Given the description of an element on the screen output the (x, y) to click on. 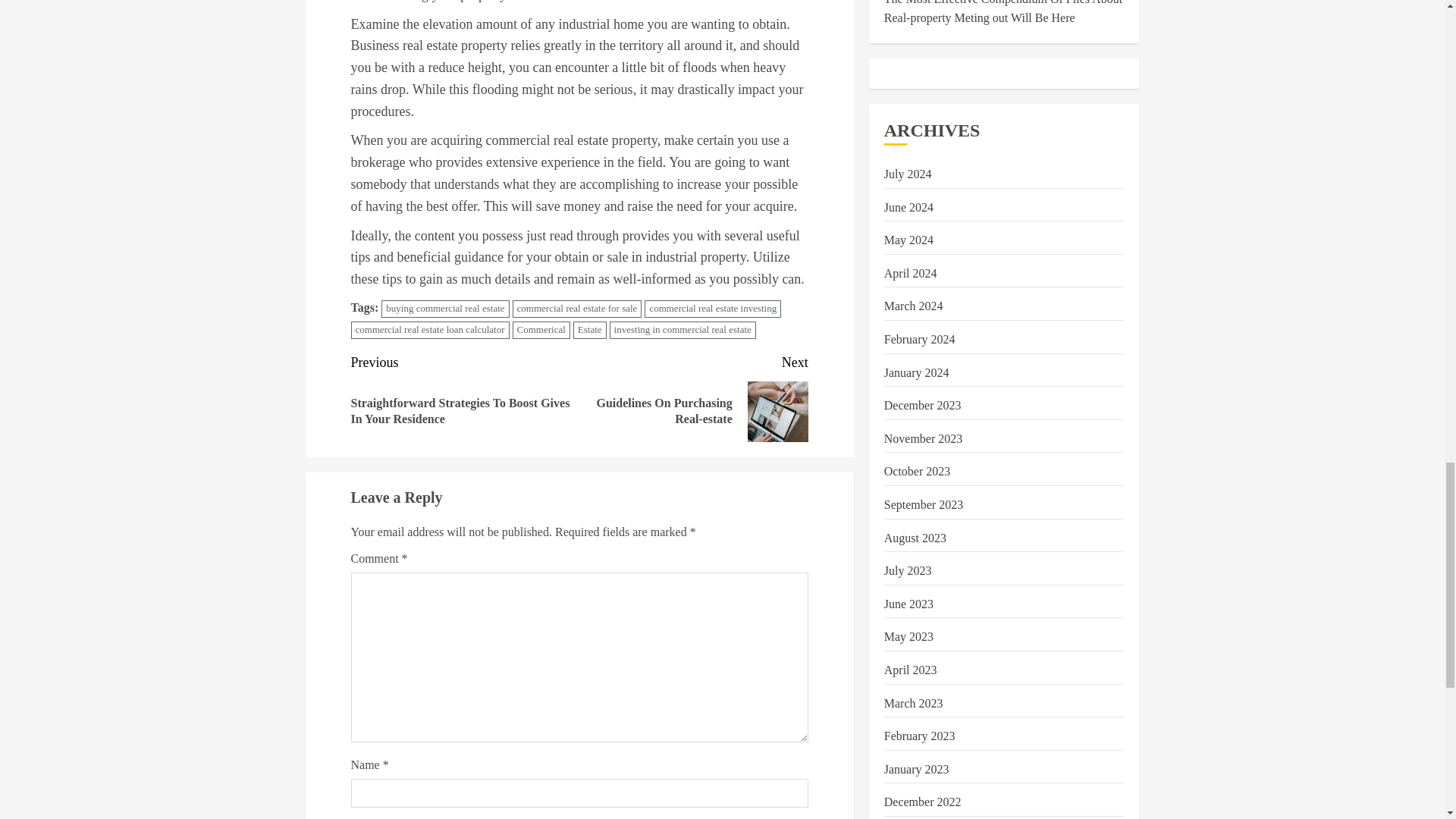
commercial real estate loan calculator (429, 330)
buying commercial real estate (444, 308)
Estate (590, 330)
commercial real estate investing (712, 308)
investing in commercial real estate (682, 330)
Commerical (693, 397)
commercial real estate for sale (541, 330)
